Given the description of an element on the screen output the (x, y) to click on. 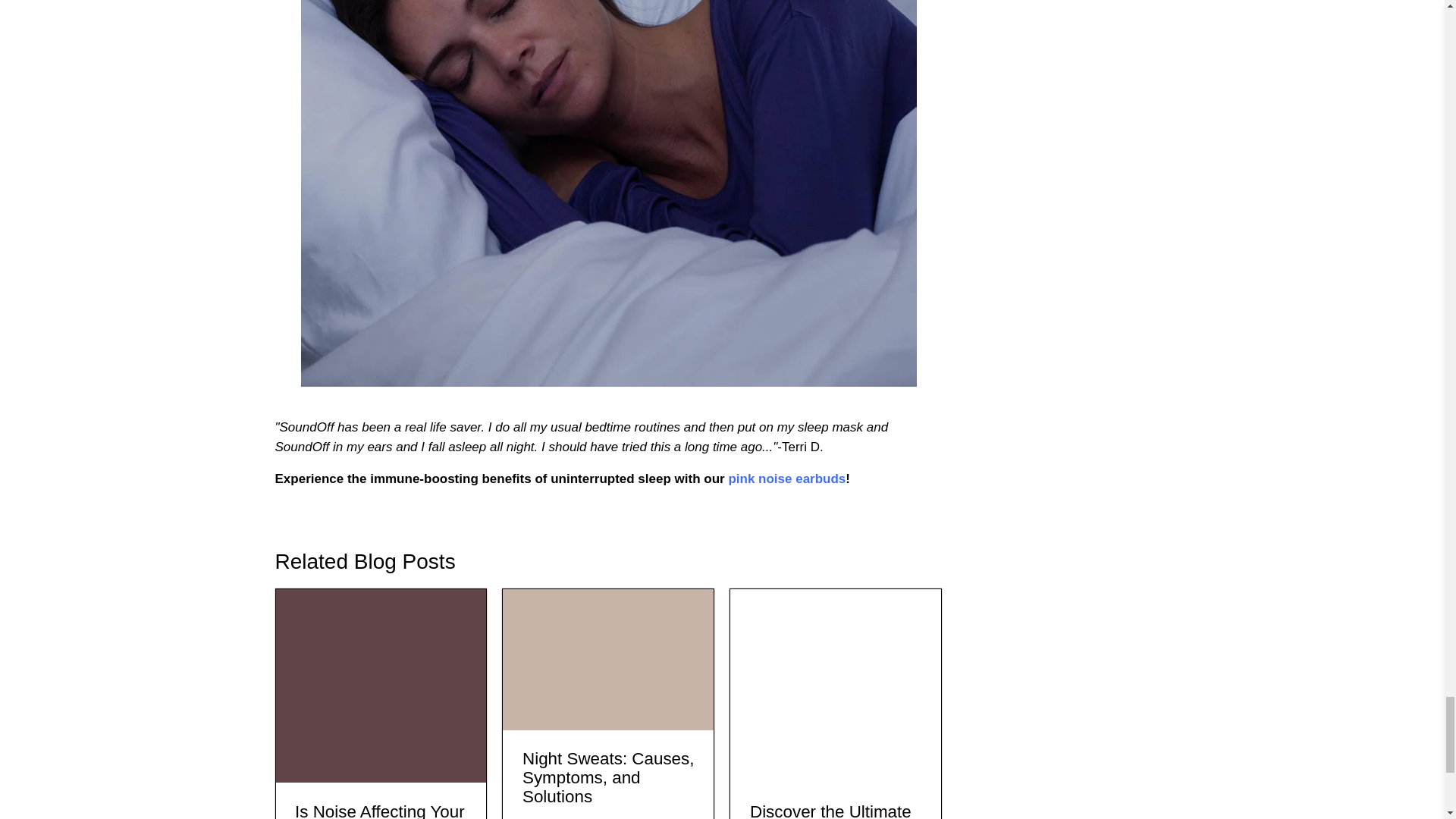
Night Sweats: Causes, Symptoms, and Solutions (607, 658)
Is Noise Affecting Your Mental Health? (379, 810)
Night Sweats: Causes, Symptoms, and Solutions (608, 777)
Is Noise Affecting Your Mental Health? (381, 685)
